Given the description of an element on the screen output the (x, y) to click on. 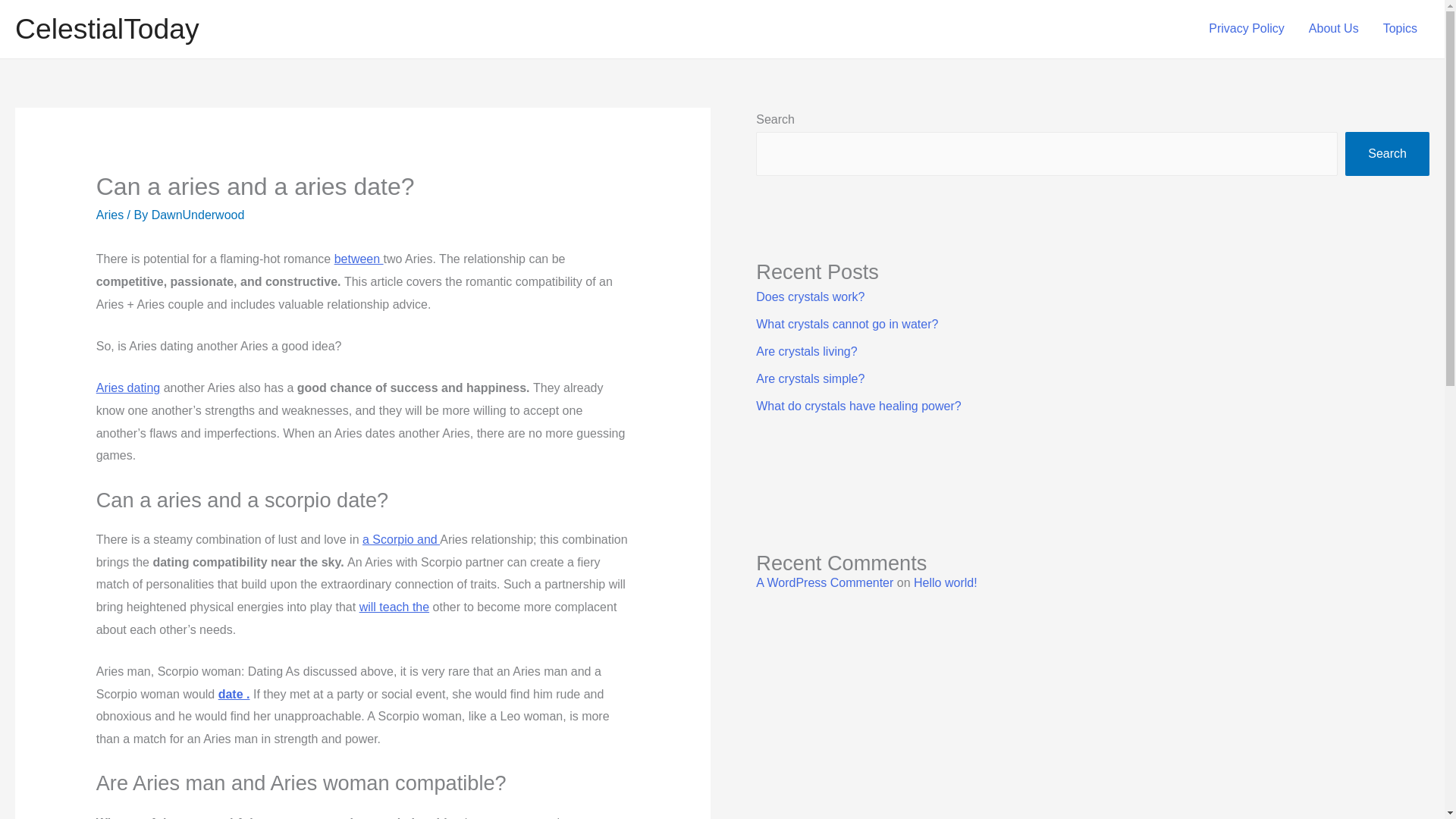
a Scorpio and (400, 539)
Are crystals simple? (809, 378)
Are crystals living? (806, 350)
Topics (1400, 28)
date . (234, 694)
A WordPress Commenter (824, 582)
View all posts by DawnUnderwood (197, 214)
Hello world! (945, 582)
DawnUnderwood (197, 214)
About Us (1334, 28)
Privacy Policy (1246, 28)
Does crystals work? (809, 296)
CelestialToday (106, 29)
Aries (109, 214)
What do crystals have healing power? (857, 405)
